Given the description of an element on the screen output the (x, y) to click on. 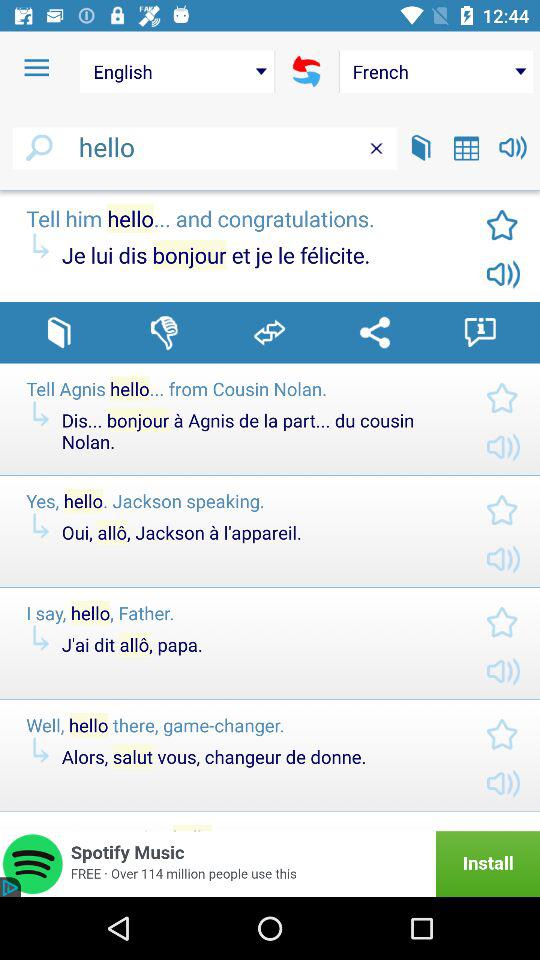
translate (306, 71)
